Given the description of an element on the screen output the (x, y) to click on. 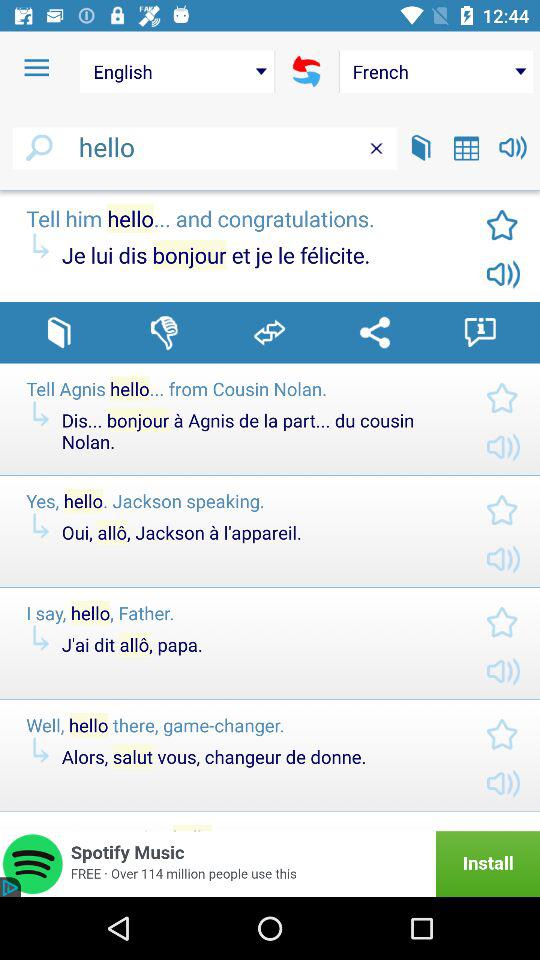
translate (306, 71)
